Given the description of an element on the screen output the (x, y) to click on. 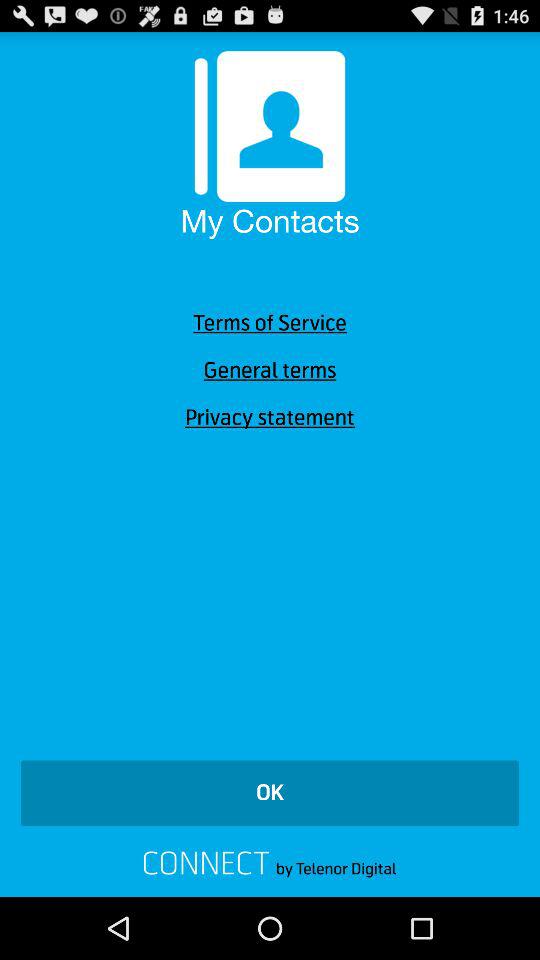
turn on ok (270, 793)
